Given the description of an element on the screen output the (x, y) to click on. 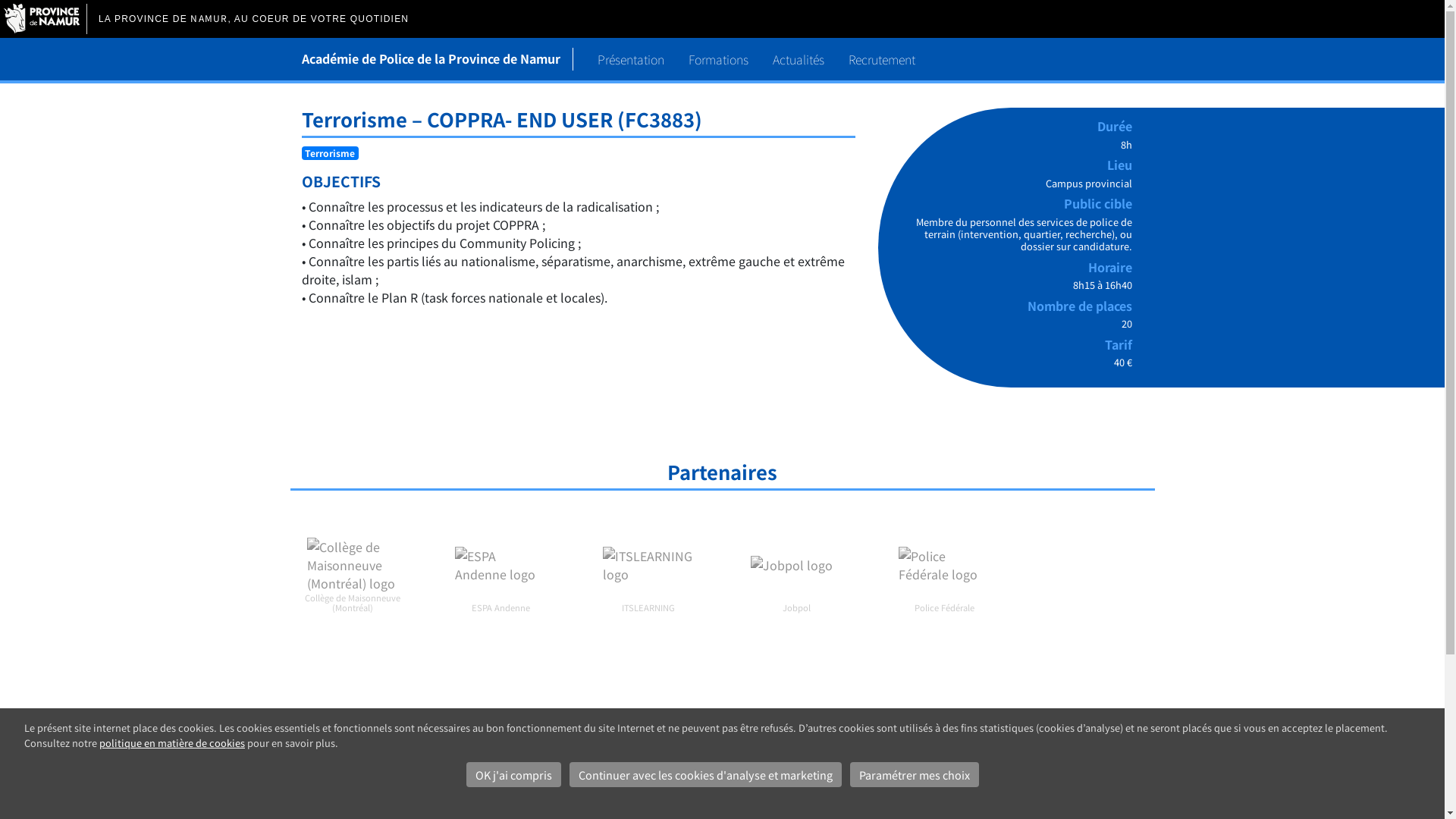
OK j'ai compris Element type: text (512, 774)
Recrutement Element type: text (880, 58)
Jobpol Element type: text (796, 564)
ITSLEARNING Element type: text (647, 564)
Formations Element type: text (718, 58)
ESPA Andenne Element type: text (500, 564)
Continuer avec les cookies d'analyse et marketing Element type: text (704, 774)
Terrorisme Element type: text (329, 152)
